Given the description of an element on the screen output the (x, y) to click on. 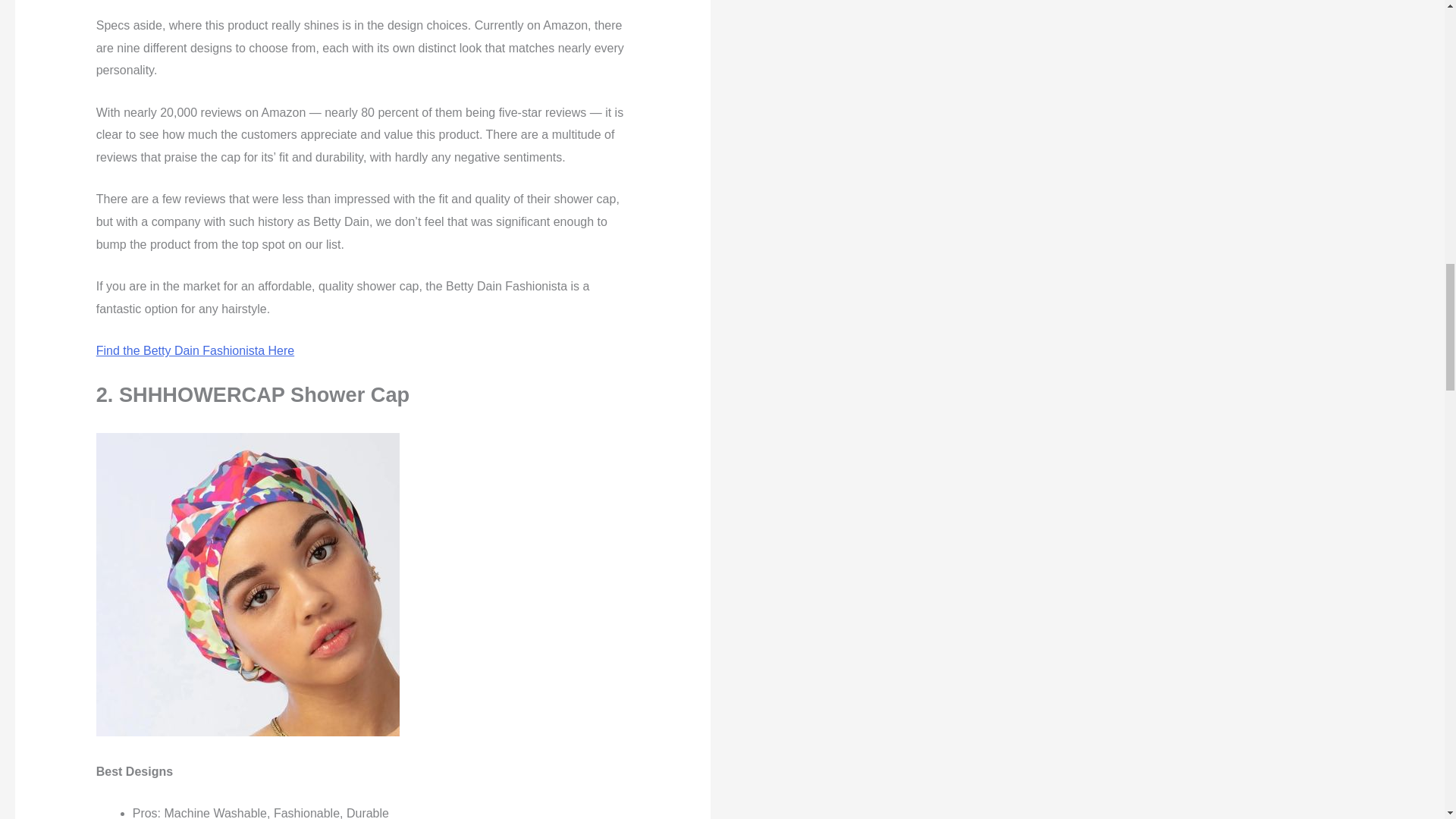
Find the Betty Dain Fashionista Here (195, 350)
